Given the description of an element on the screen output the (x, y) to click on. 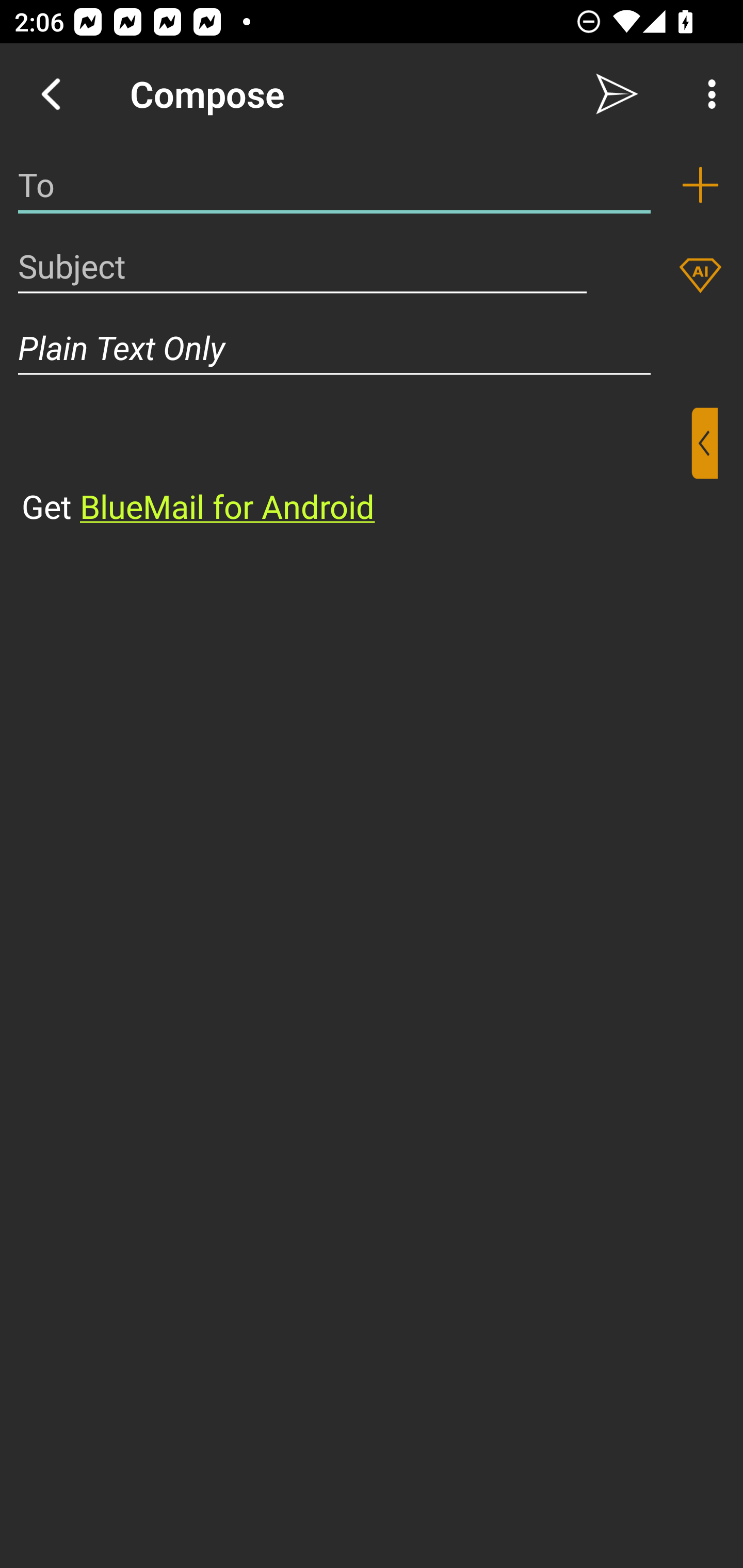
Navigate up (50, 93)
Send (616, 93)
More Options (706, 93)
To (334, 184)
Add recipient (To) (699, 184)
Subject (302, 266)
Plain Text Only (371, 347)


⁣Get BlueMail for Android ​ (355, 468)
